Given the description of an element on the screen output the (x, y) to click on. 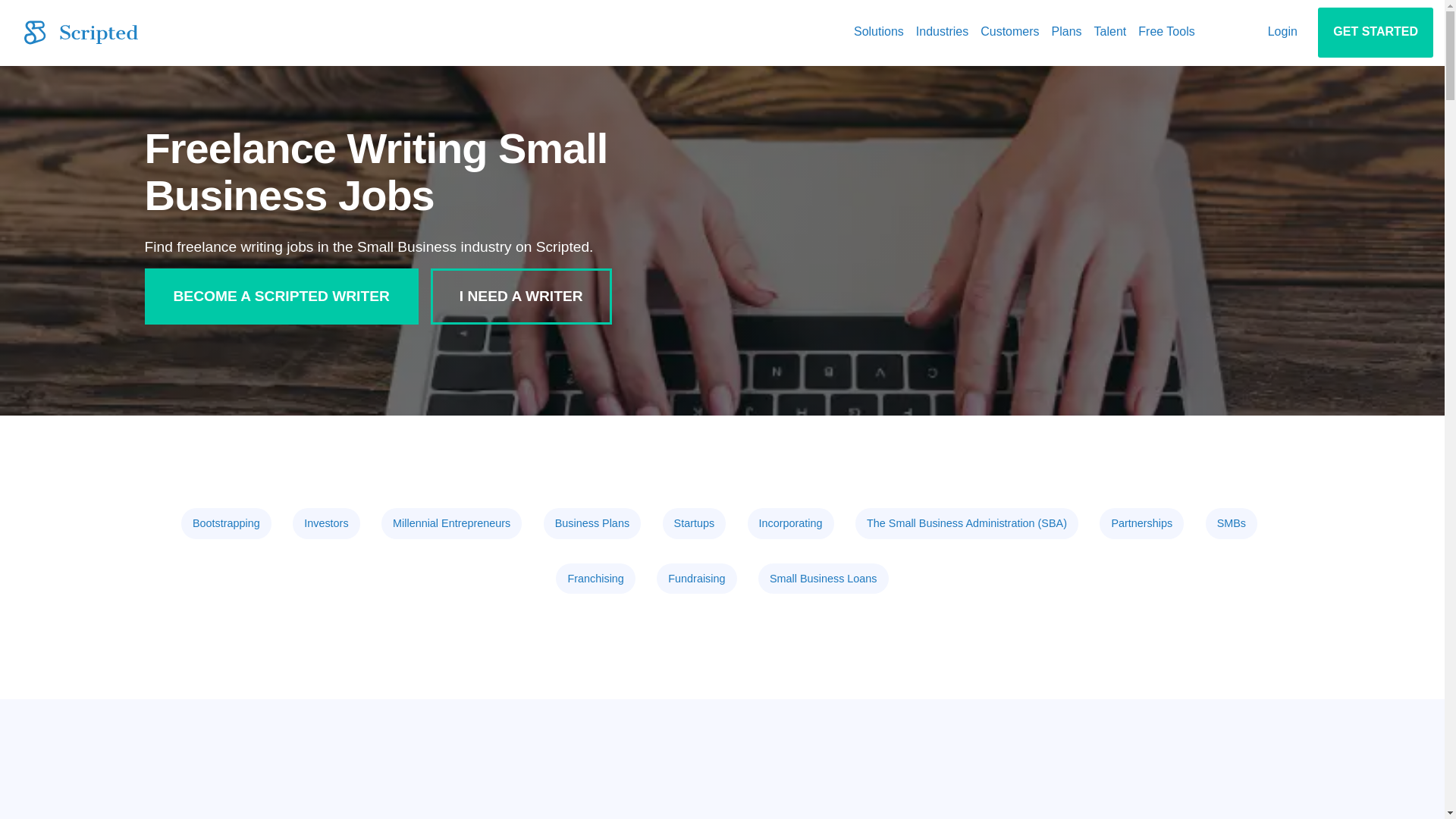
Plans (1066, 32)
Solutions (878, 32)
Login (1282, 32)
Free Tools (1165, 32)
Customers (1009, 32)
Talent (1109, 32)
GET STARTED (1374, 32)
Industries (942, 32)
